Given the description of an element on the screen output the (x, y) to click on. 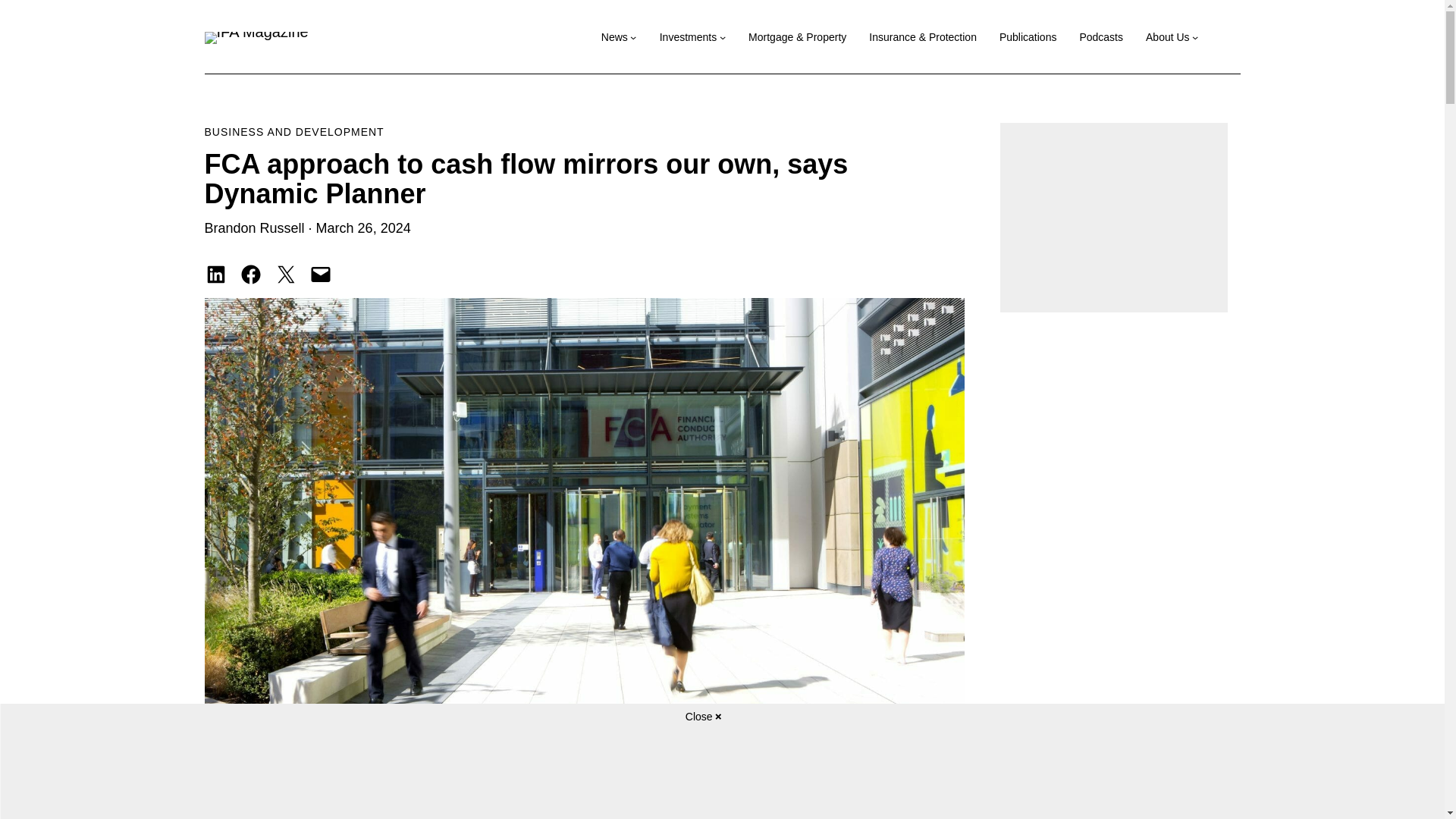
Share on X (286, 273)
About Us (1167, 36)
Publications (1027, 36)
Share on LinkedIn (216, 273)
BUSINESS AND DEVELOPMENT (294, 132)
Share on Facebook (251, 273)
News (614, 36)
Investments (687, 36)
Brandon Russell (254, 227)
Email this Page (319, 273)
